Given the description of an element on the screen output the (x, y) to click on. 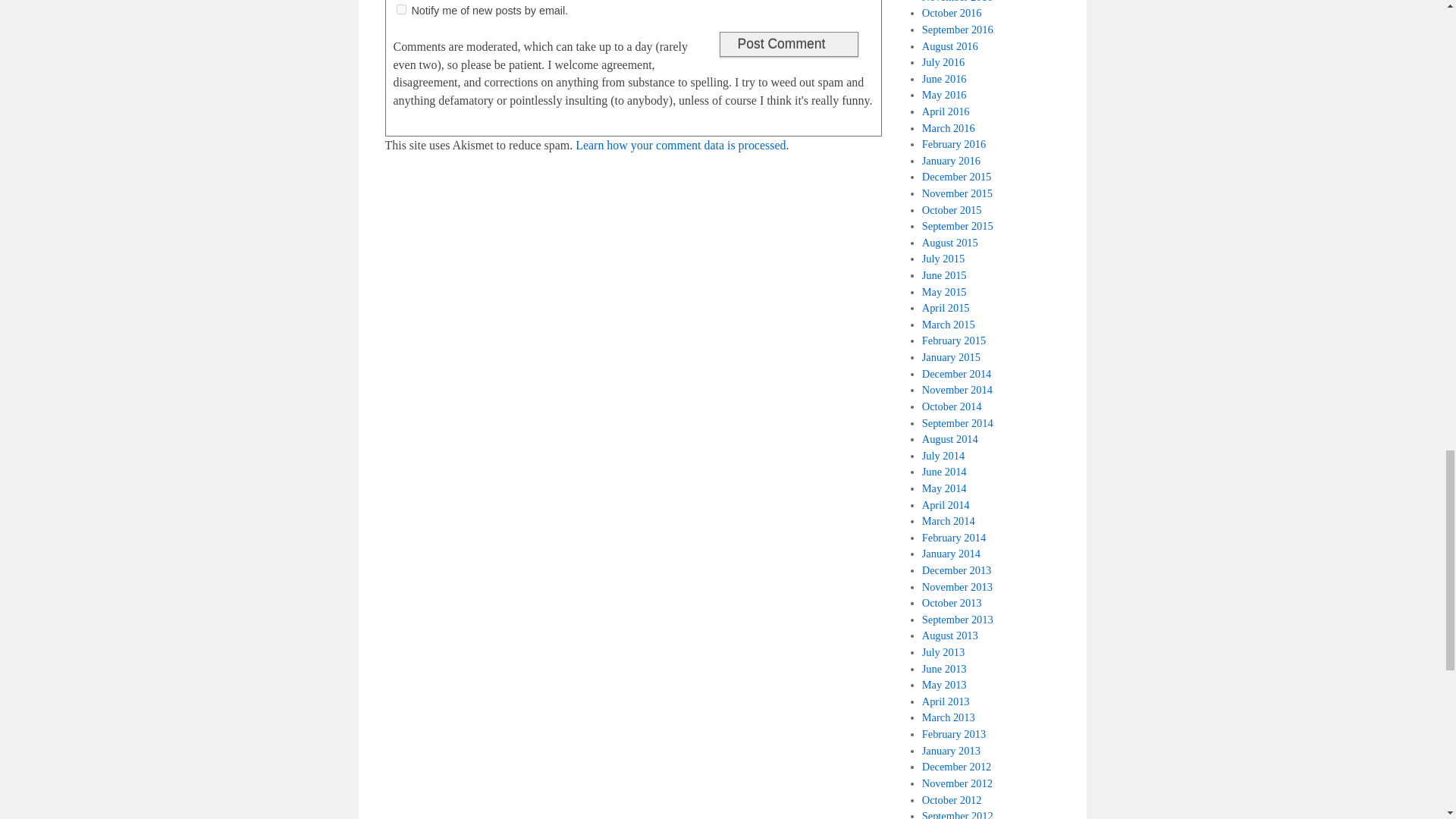
Post Comment (788, 43)
subscribe (401, 9)
Post Comment (788, 43)
Learn how your comment data is processed (680, 144)
